Given the description of an element on the screen output the (x, y) to click on. 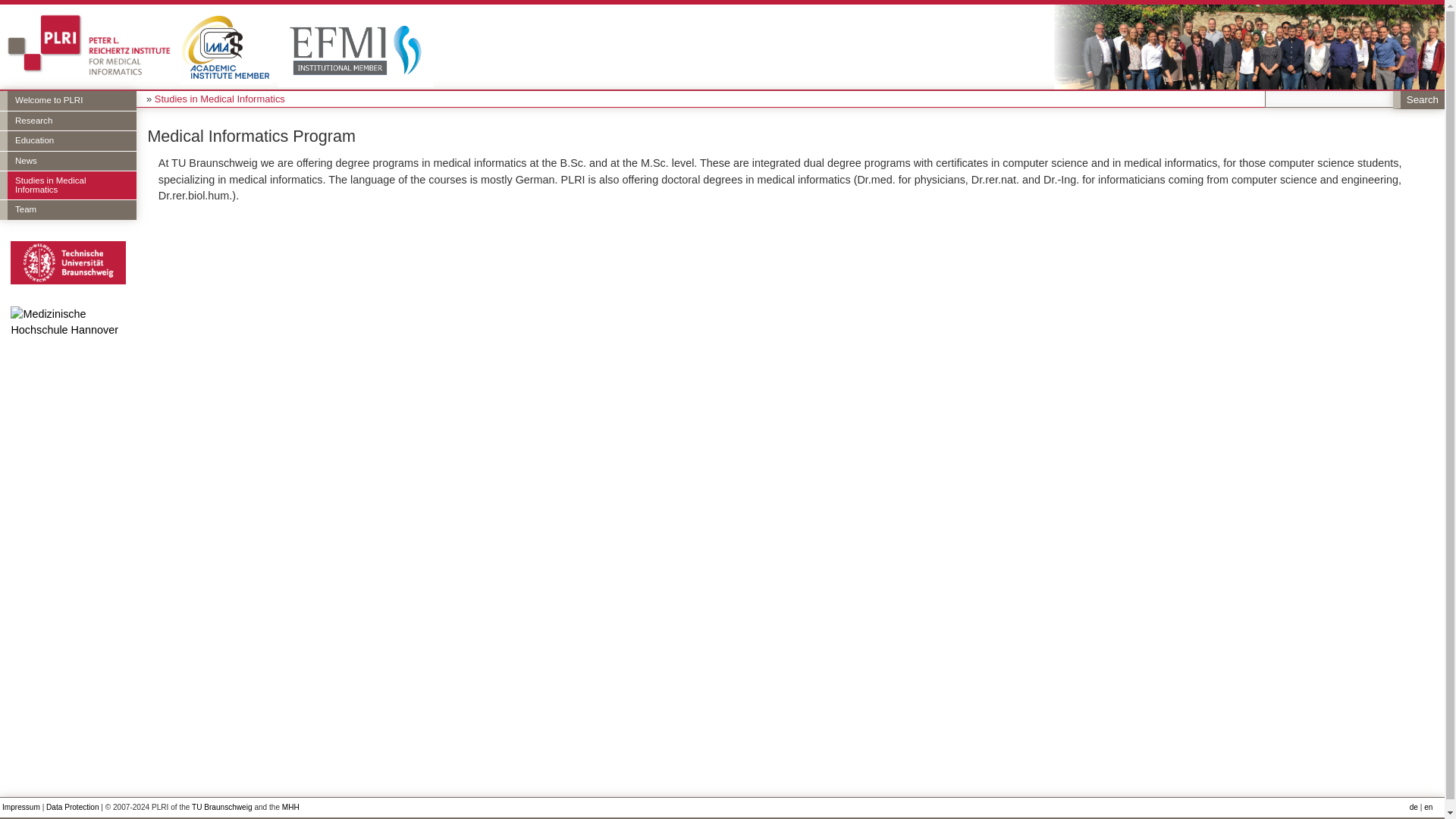
News (68, 161)
Research (68, 121)
Education (68, 140)
Welcome to PLRI (68, 100)
